Given the description of an element on the screen output the (x, y) to click on. 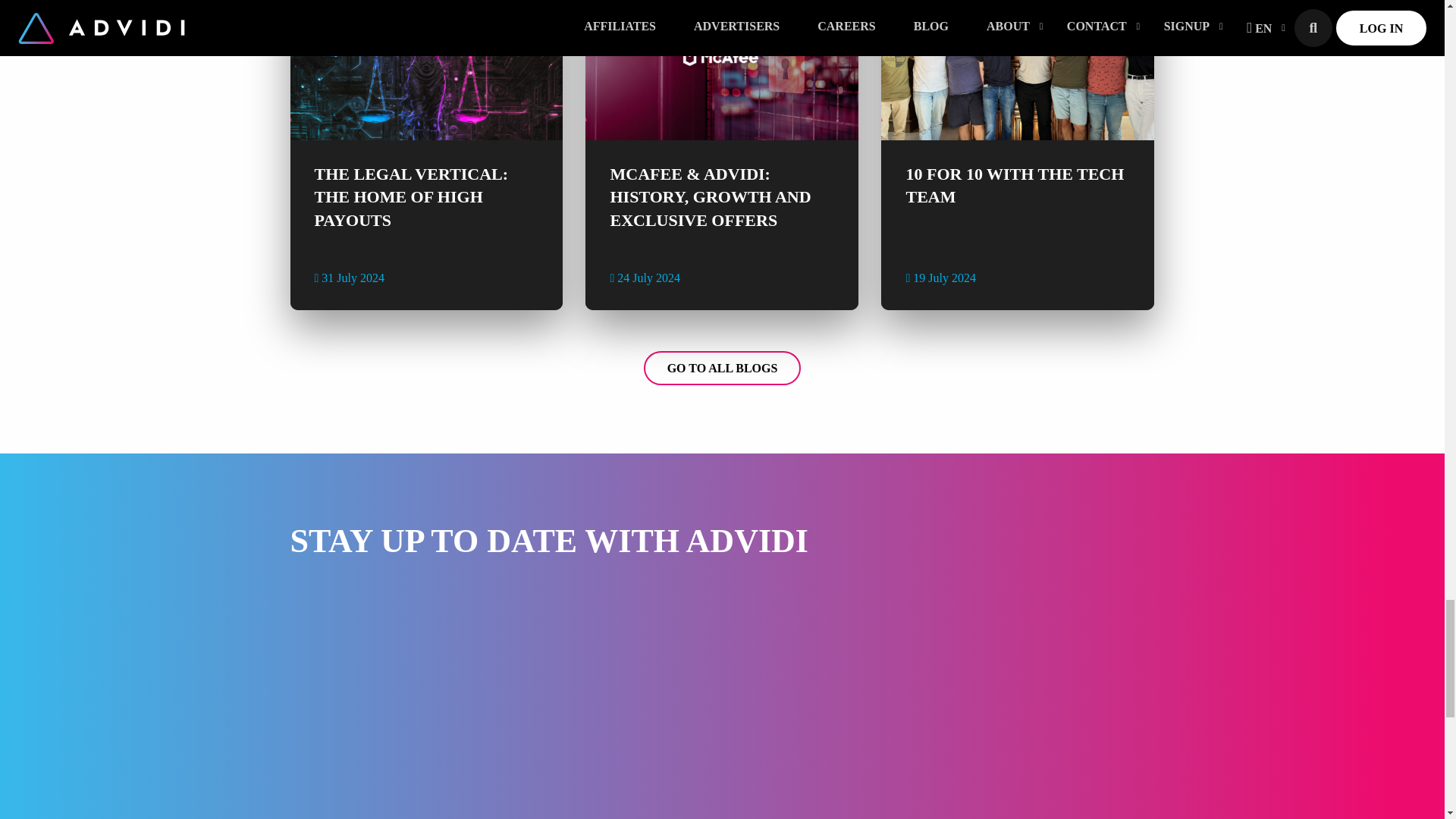
GO TO ALL BLOGS (721, 367)
